Given the description of an element on the screen output the (x, y) to click on. 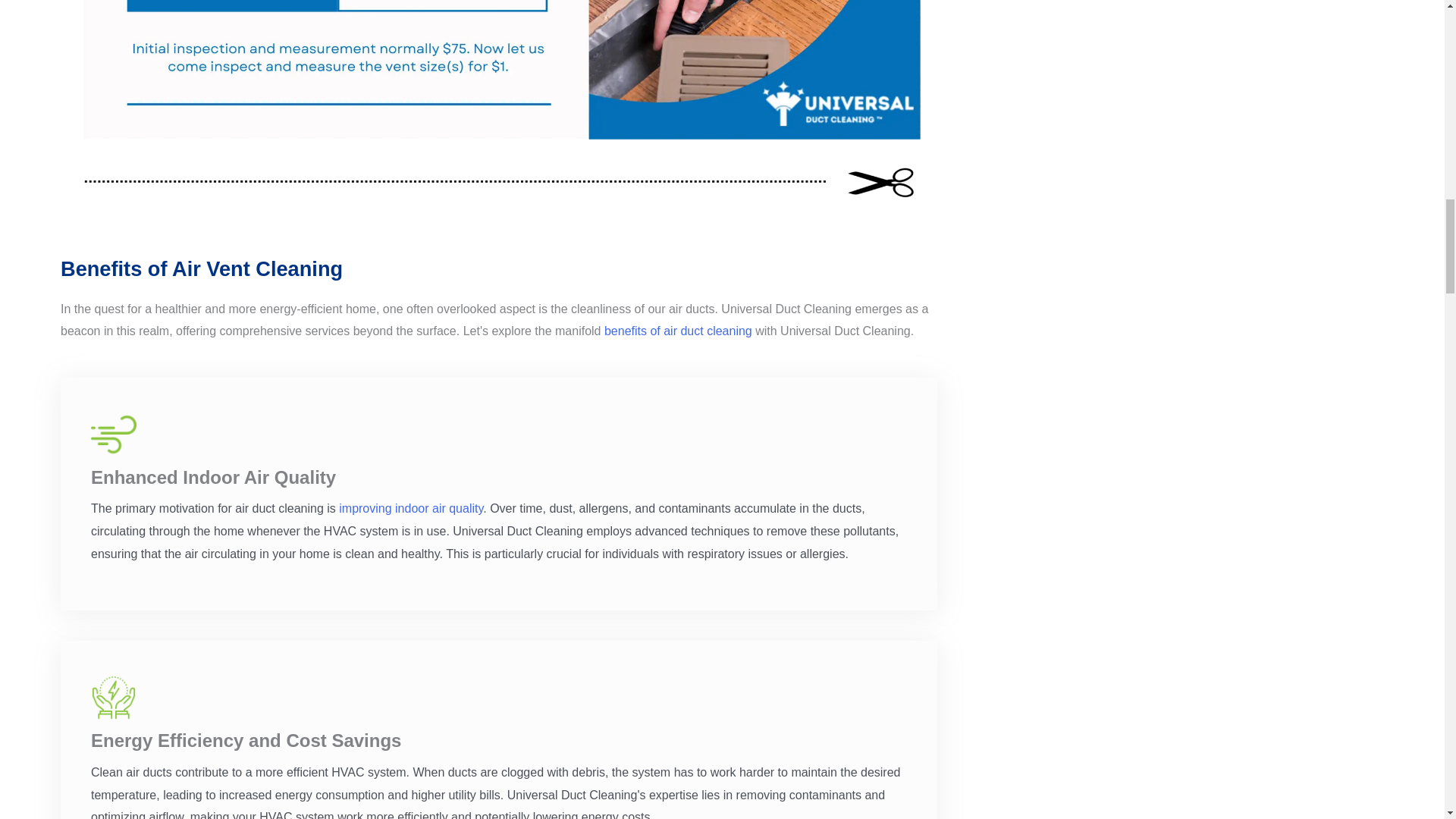
wind (113, 434)
energy-control (113, 697)
